Given the description of an element on the screen output the (x, y) to click on. 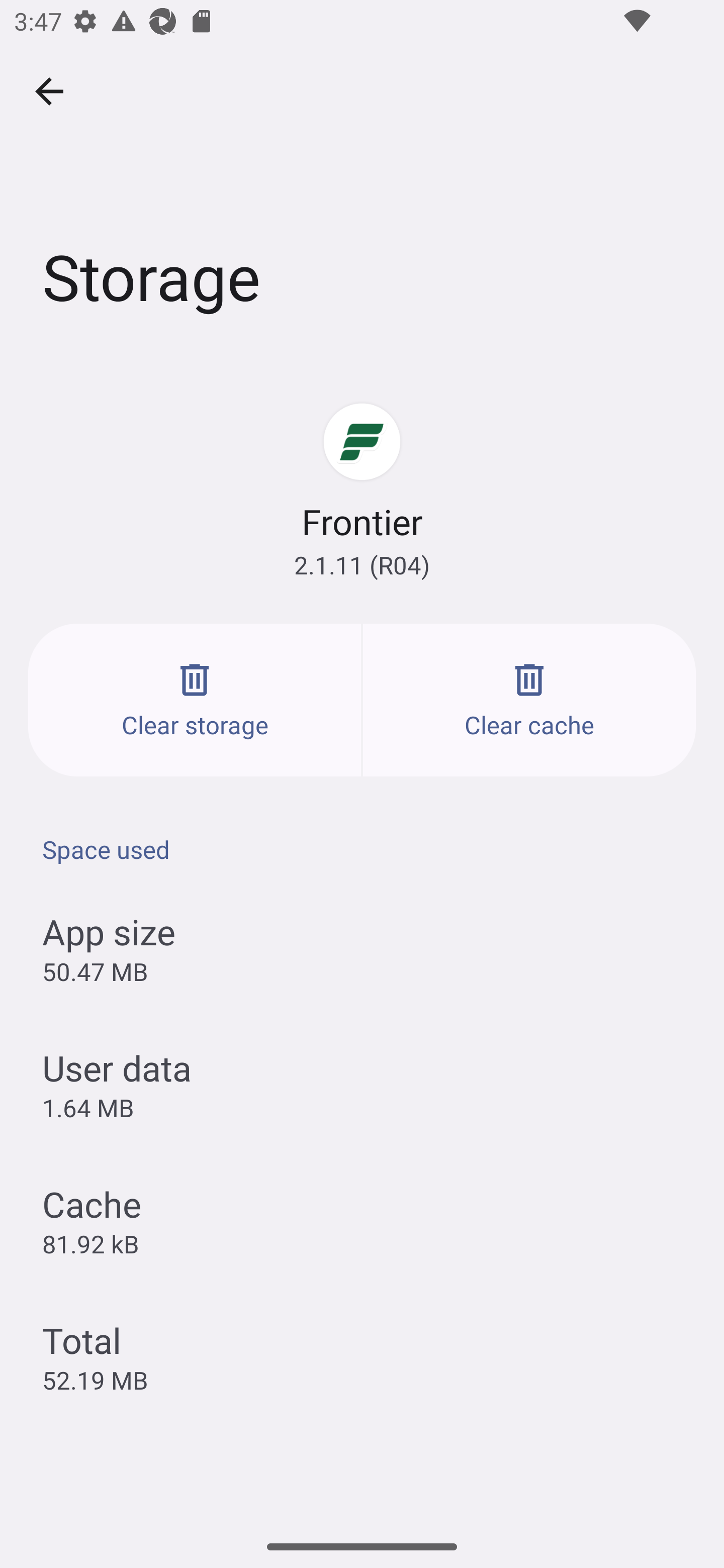
Navigate up (49, 91)
Frontier 2.1.11 (R04) (361, 490)
Clear storage (194, 700)
Clear cache (528, 700)
